Given the description of an element on the screen output the (x, y) to click on. 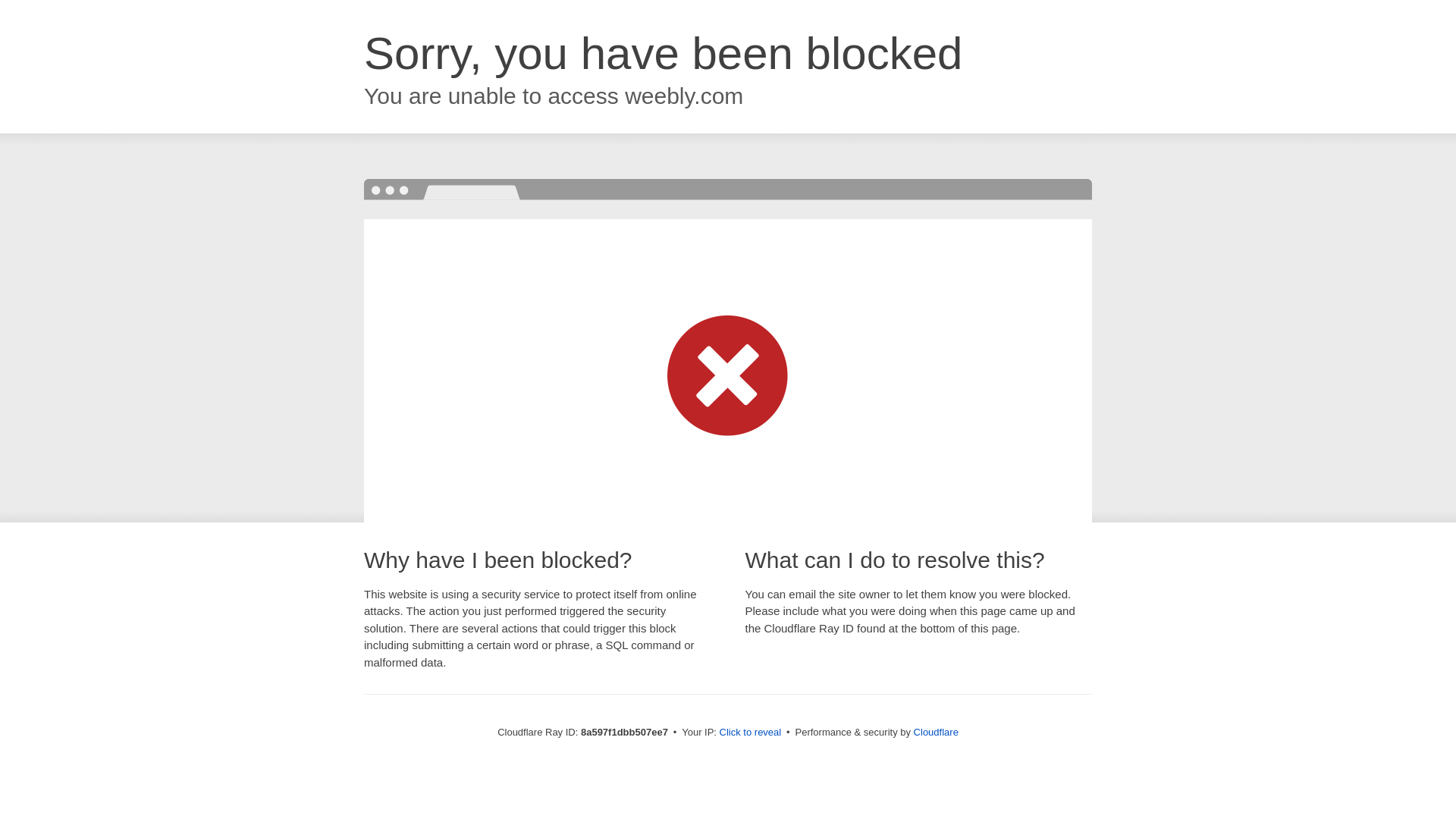
Cloudflare (936, 731)
Click to reveal (750, 732)
